Given the description of an element on the screen output the (x, y) to click on. 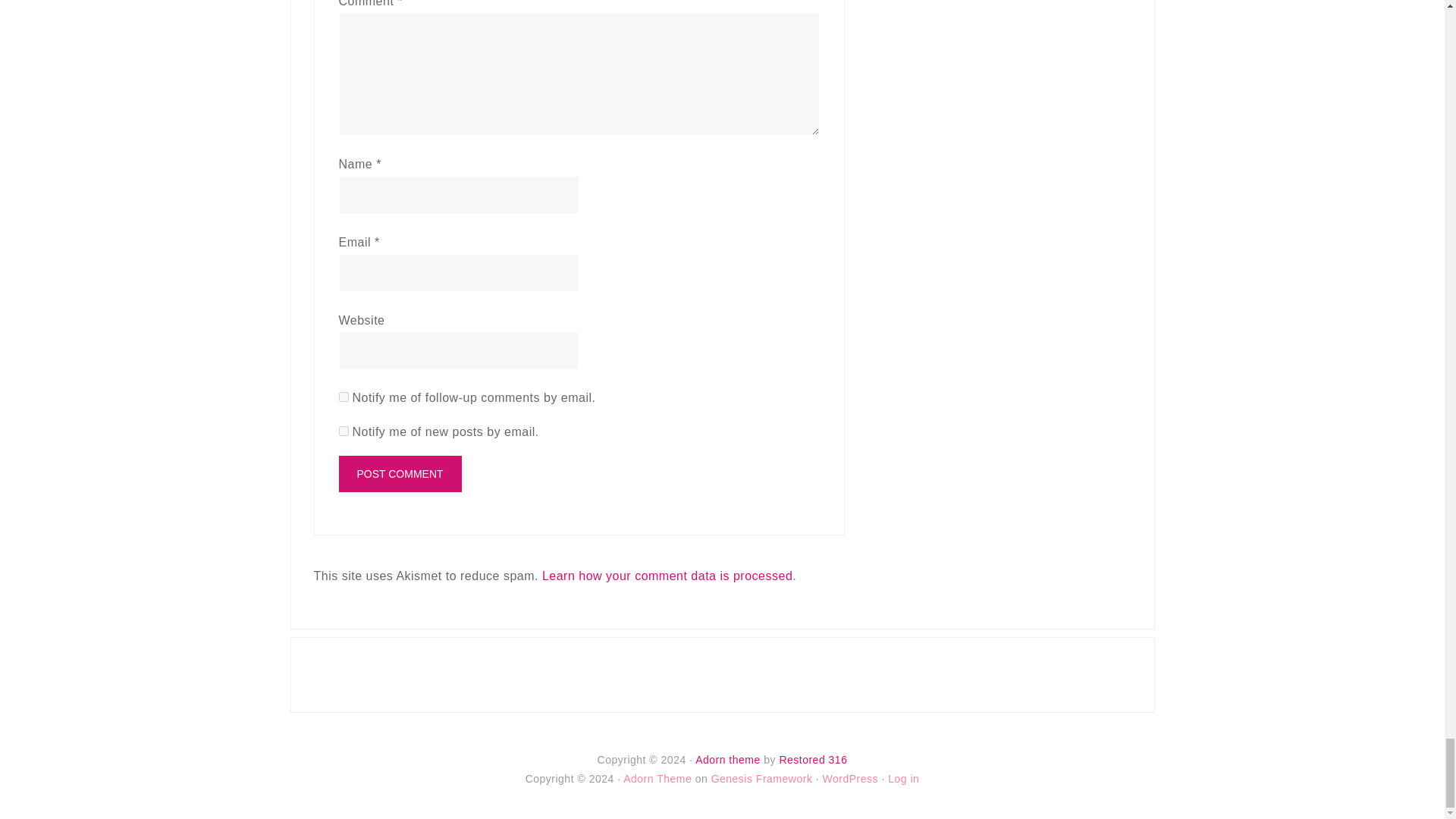
subscribe (342, 430)
subscribe (342, 397)
Post Comment (399, 473)
